Given the description of an element on the screen output the (x, y) to click on. 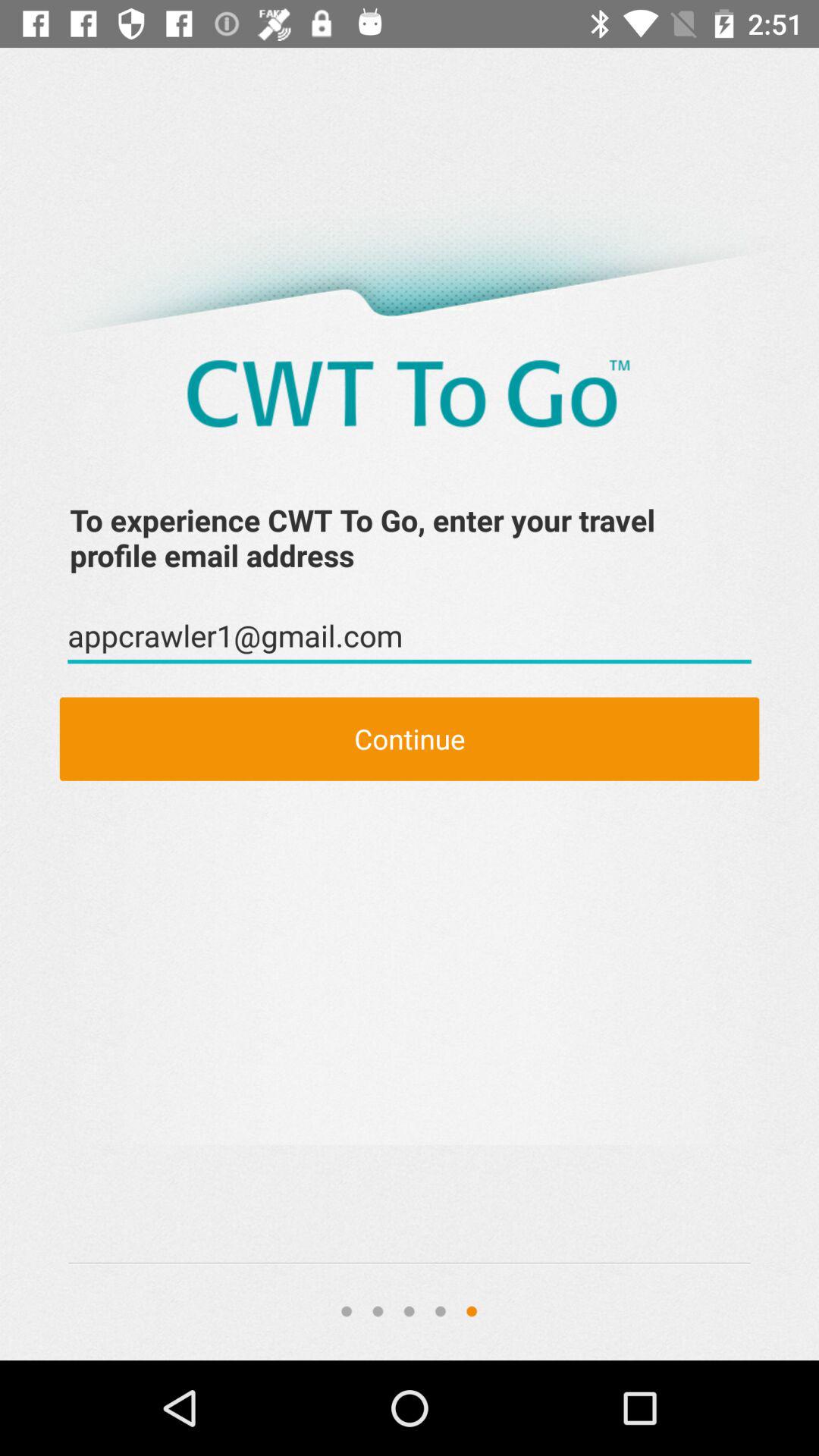
launch item below the to experience cwt (409, 636)
